Given the description of an element on the screen output the (x, y) to click on. 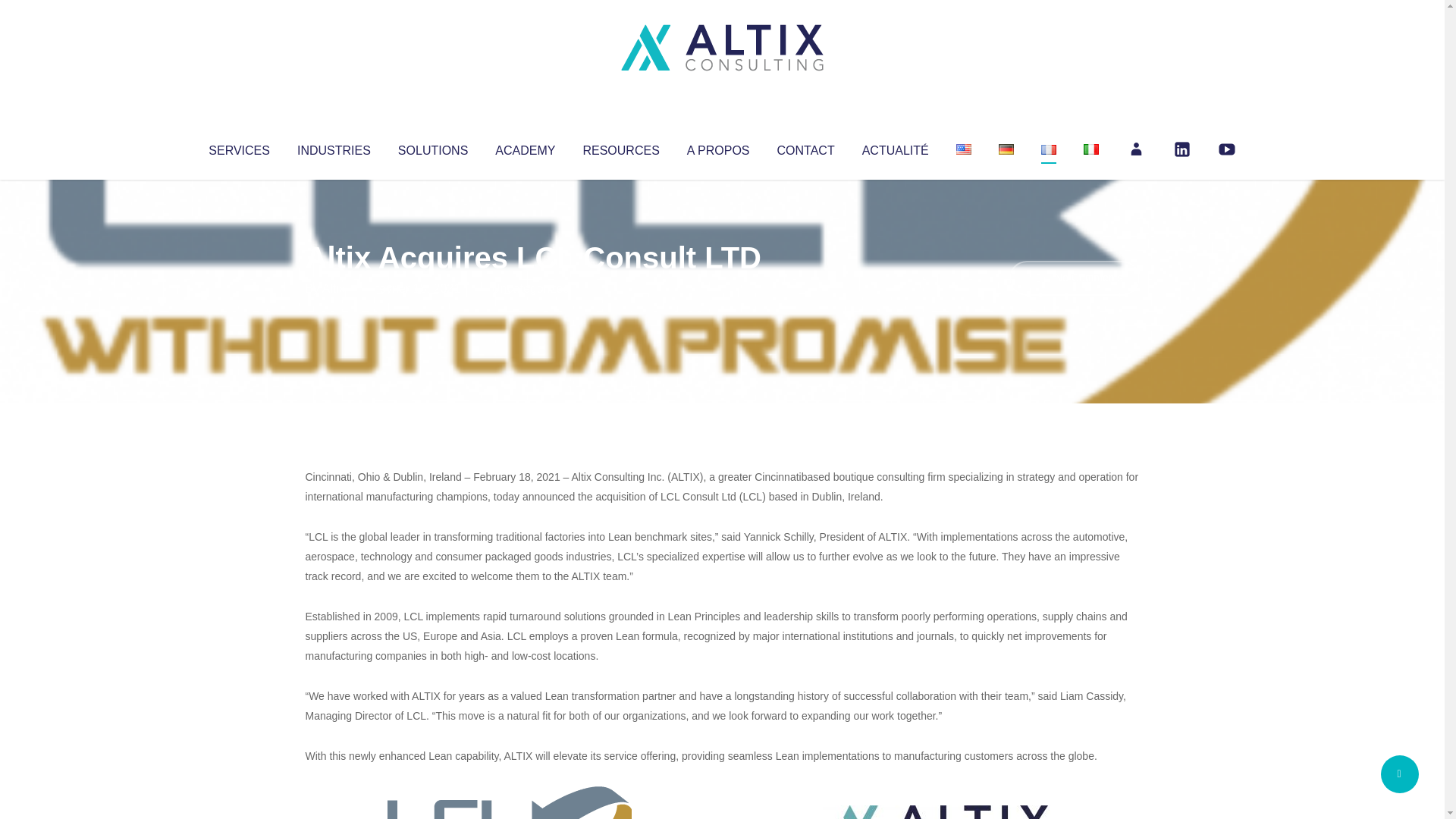
SOLUTIONS (432, 146)
No Comments (1073, 278)
INDUSTRIES (334, 146)
Articles par Altix (333, 287)
RESOURCES (620, 146)
A PROPOS (718, 146)
SERVICES (238, 146)
Uncategorized (530, 287)
ACADEMY (524, 146)
Altix (333, 287)
